Given the description of an element on the screen output the (x, y) to click on. 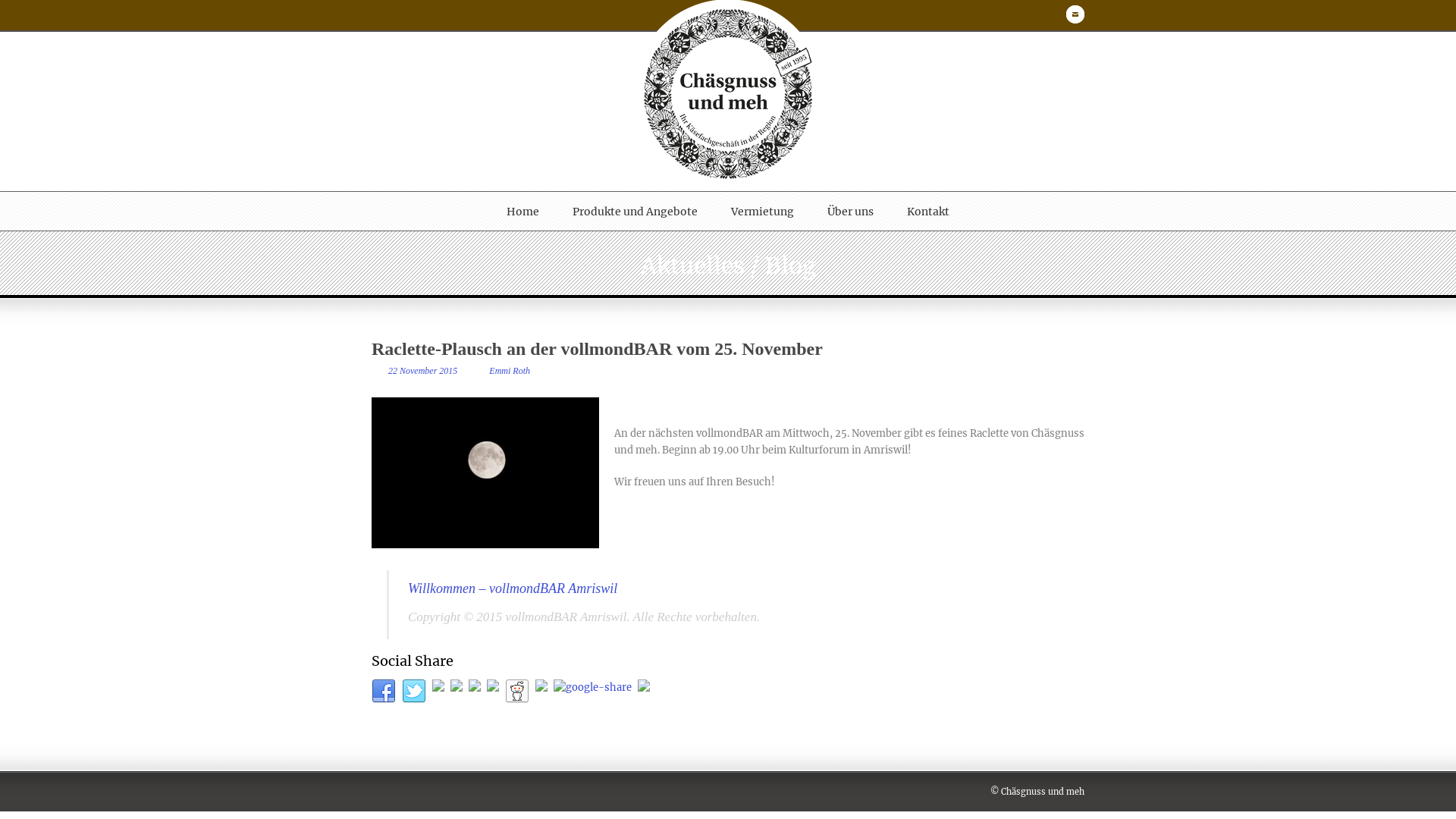
Emmi Roth Element type: text (509, 370)
Kontakt Element type: text (927, 211)
Vermietung Element type: text (762, 211)
Produkte und Angebote Element type: text (635, 211)
22 November 2015 Element type: text (422, 370)
Home Element type: text (522, 211)
Raclette-Plausch an der vollmondBAR vom 25. November Element type: text (596, 348)
